Given the description of an element on the screen output the (x, y) to click on. 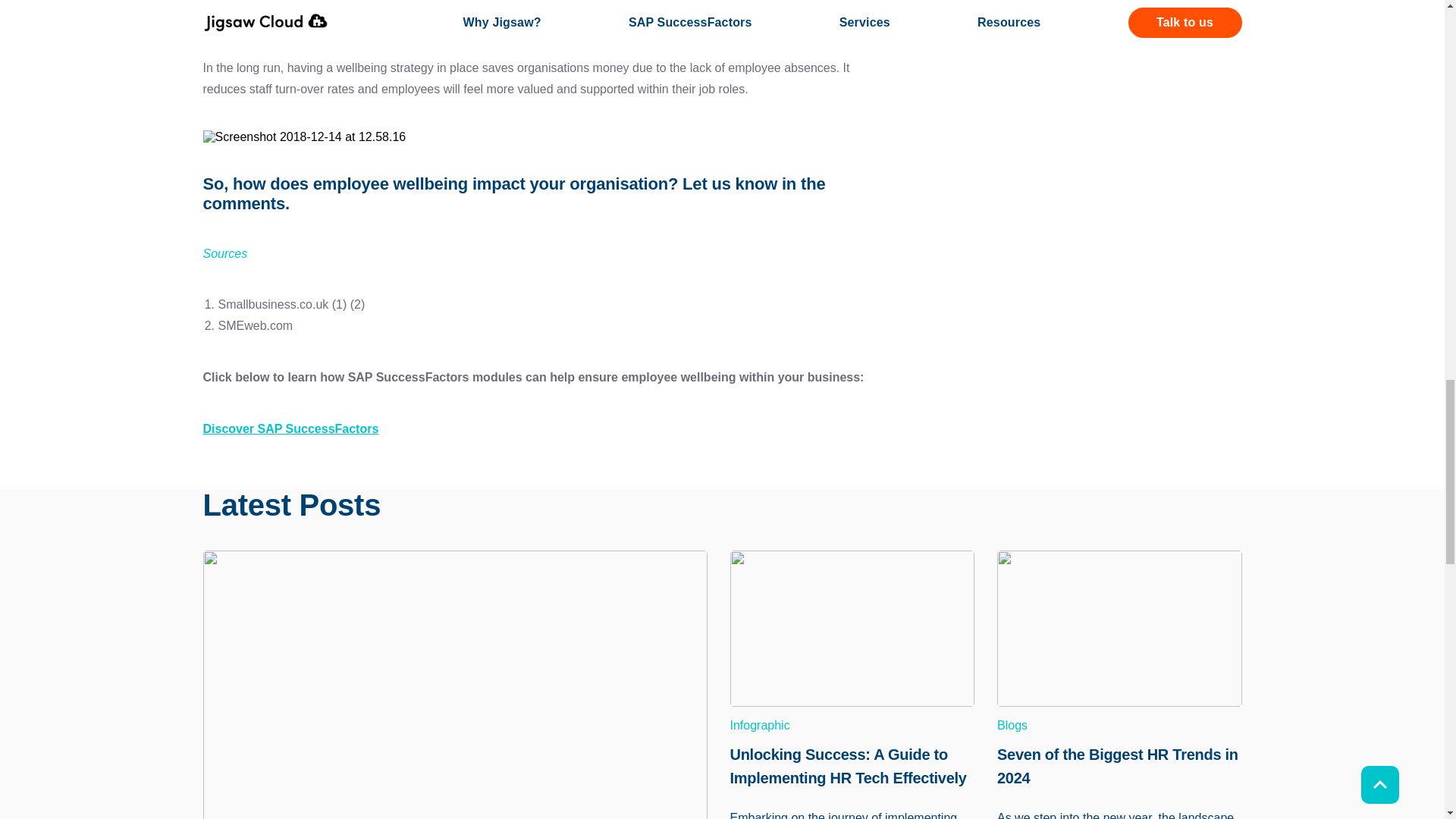
Infographic (851, 725)
Seven of the Biggest HR Trends in 2024 (1119, 762)
Discover SAP SuccessFactors (290, 427)
Blogs (1119, 725)
